Given the description of an element on the screen output the (x, y) to click on. 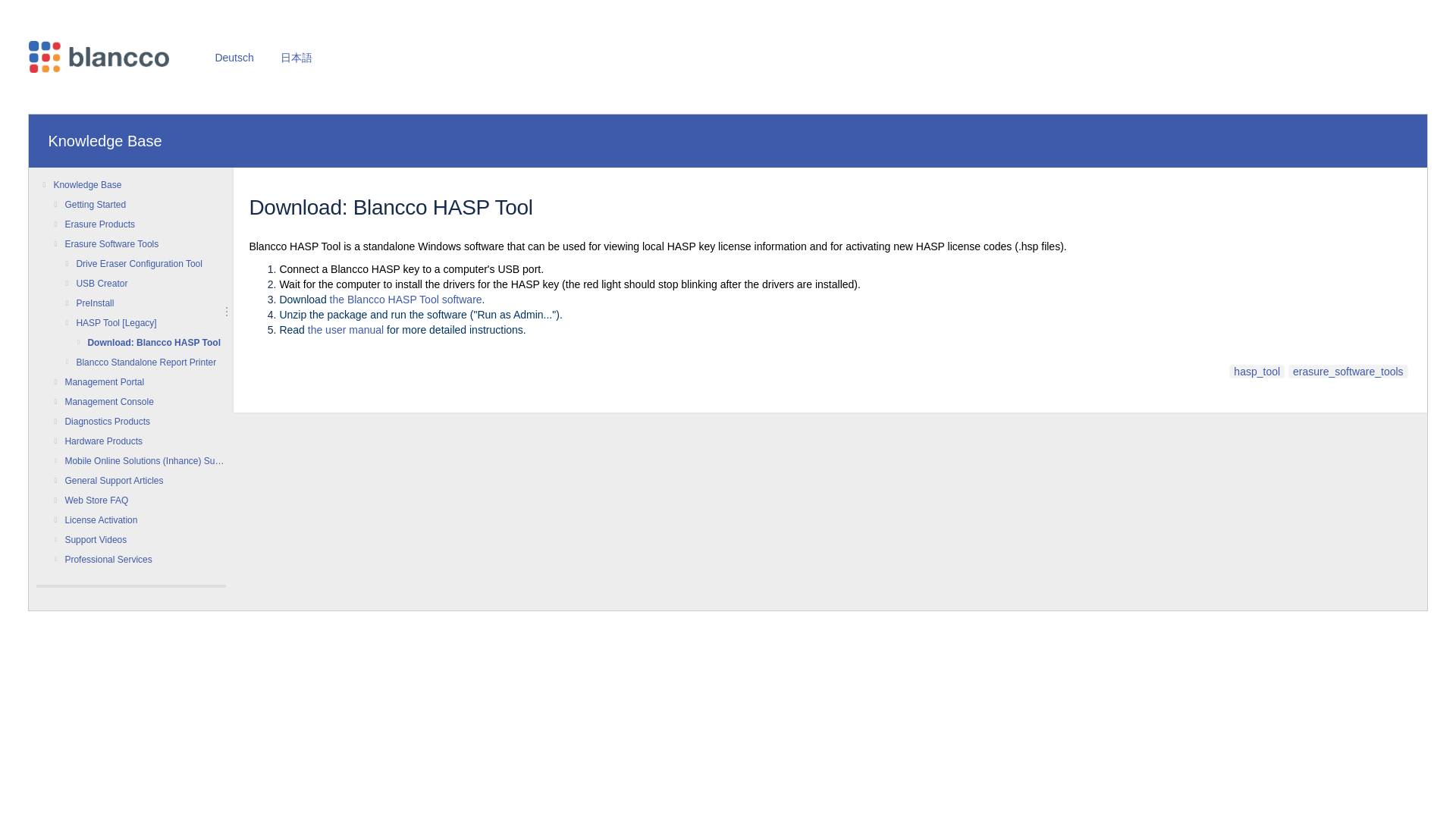
Erasure Products (144, 224)
Erasure Products (144, 224)
Knowledge Base (104, 141)
PreInstall (150, 302)
USB Creator (150, 283)
Blancco Standalone Report Printer (150, 362)
Drive Eraser Configuration Tool (150, 263)
Management Portal (144, 382)
Diagnostics Products (144, 421)
Getting Started (144, 204)
Management Console (144, 401)
Download: Blancco HASP Tool (156, 342)
Deutsch (233, 56)
Getting Started (144, 204)
Erasure Software Tools (144, 243)
